Given the description of an element on the screen output the (x, y) to click on. 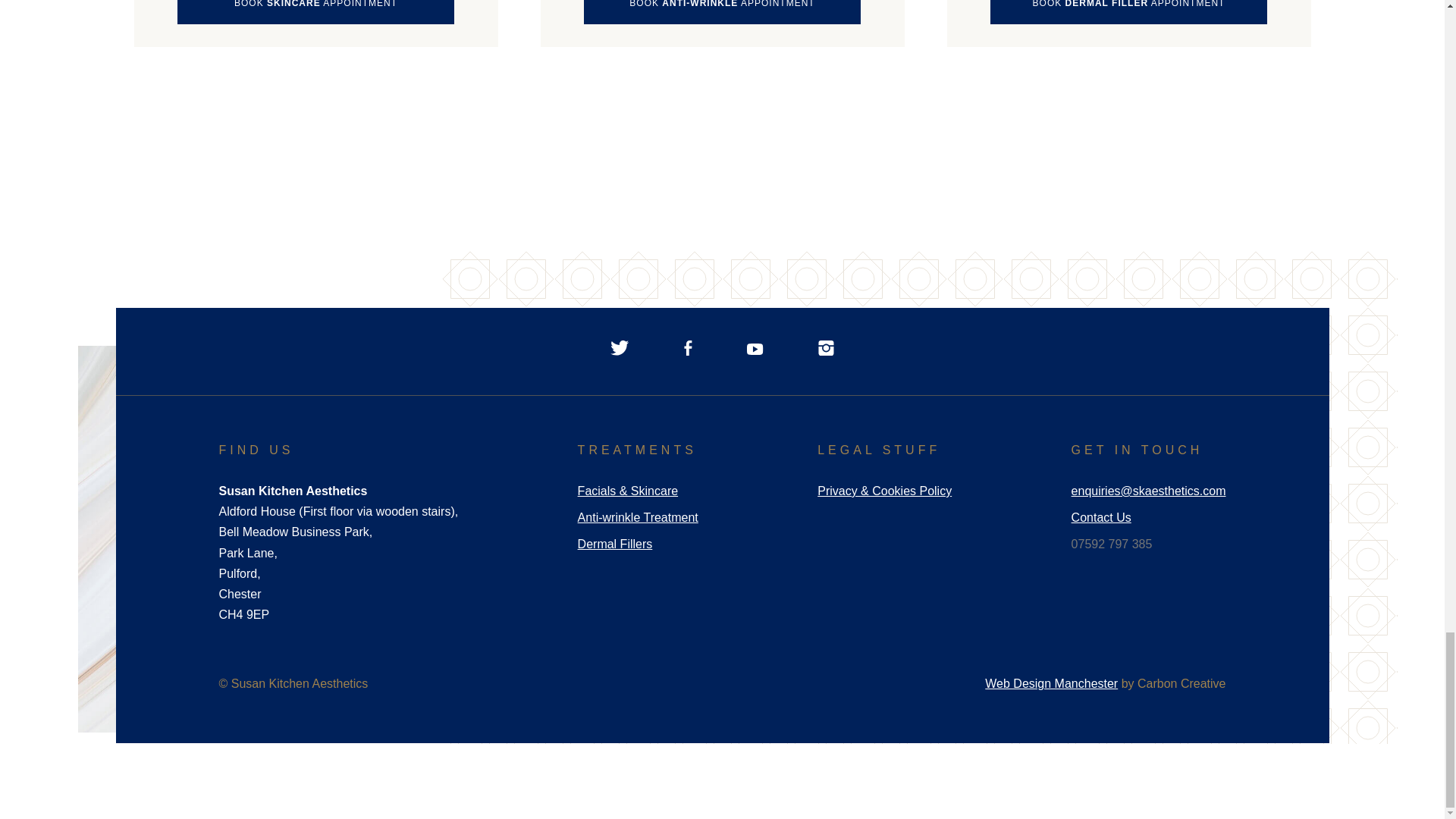
Anti-wrinkle Treatment (638, 517)
Contact Us (1101, 517)
Web Design Manchester (1051, 683)
Dermal Fillers (615, 543)
